Given the description of an element on the screen output the (x, y) to click on. 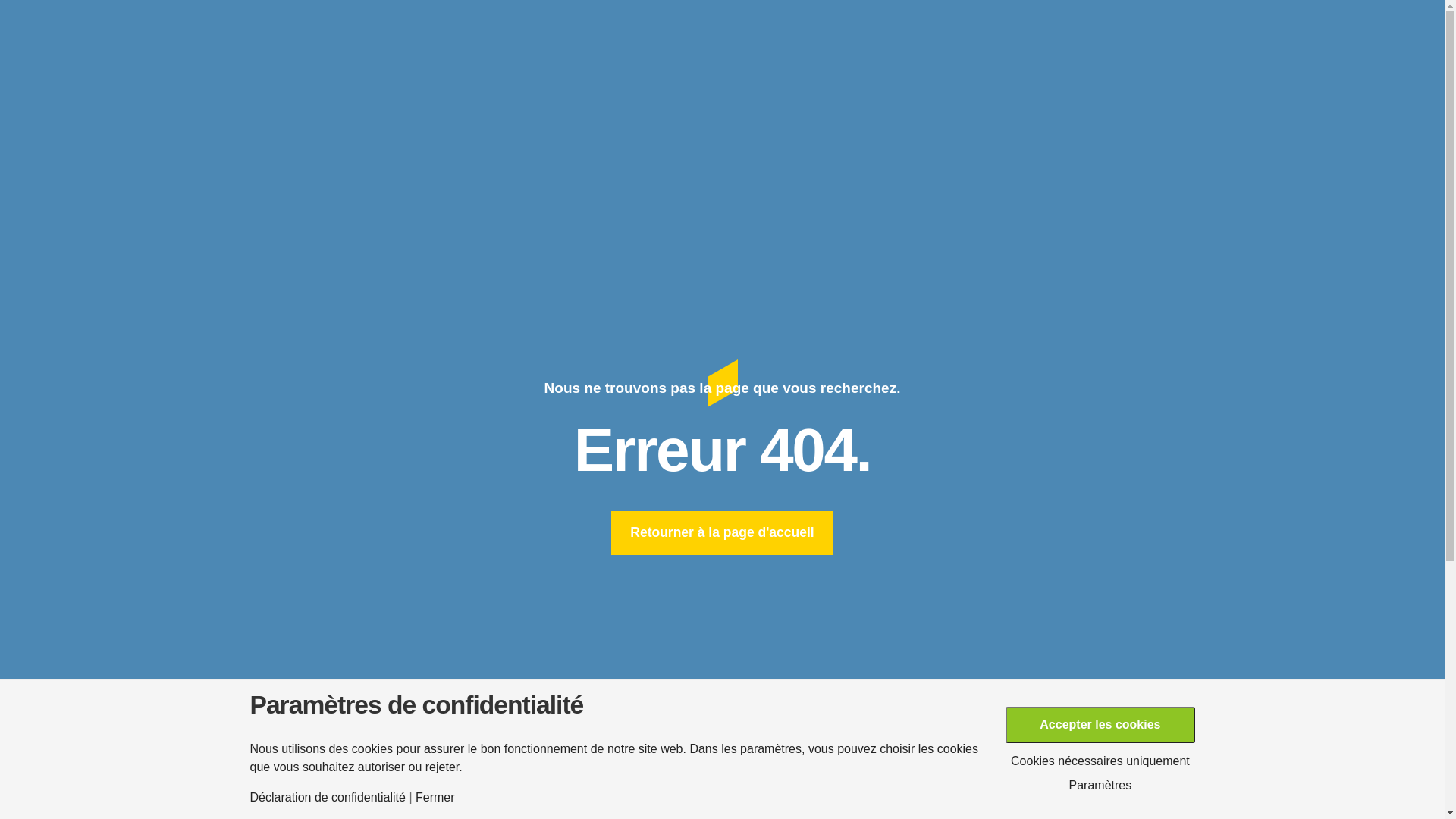
Fermer Element type: text (435, 797)
Accepter les cookies Element type: text (1099, 724)
